Given the description of an element on the screen output the (x, y) to click on. 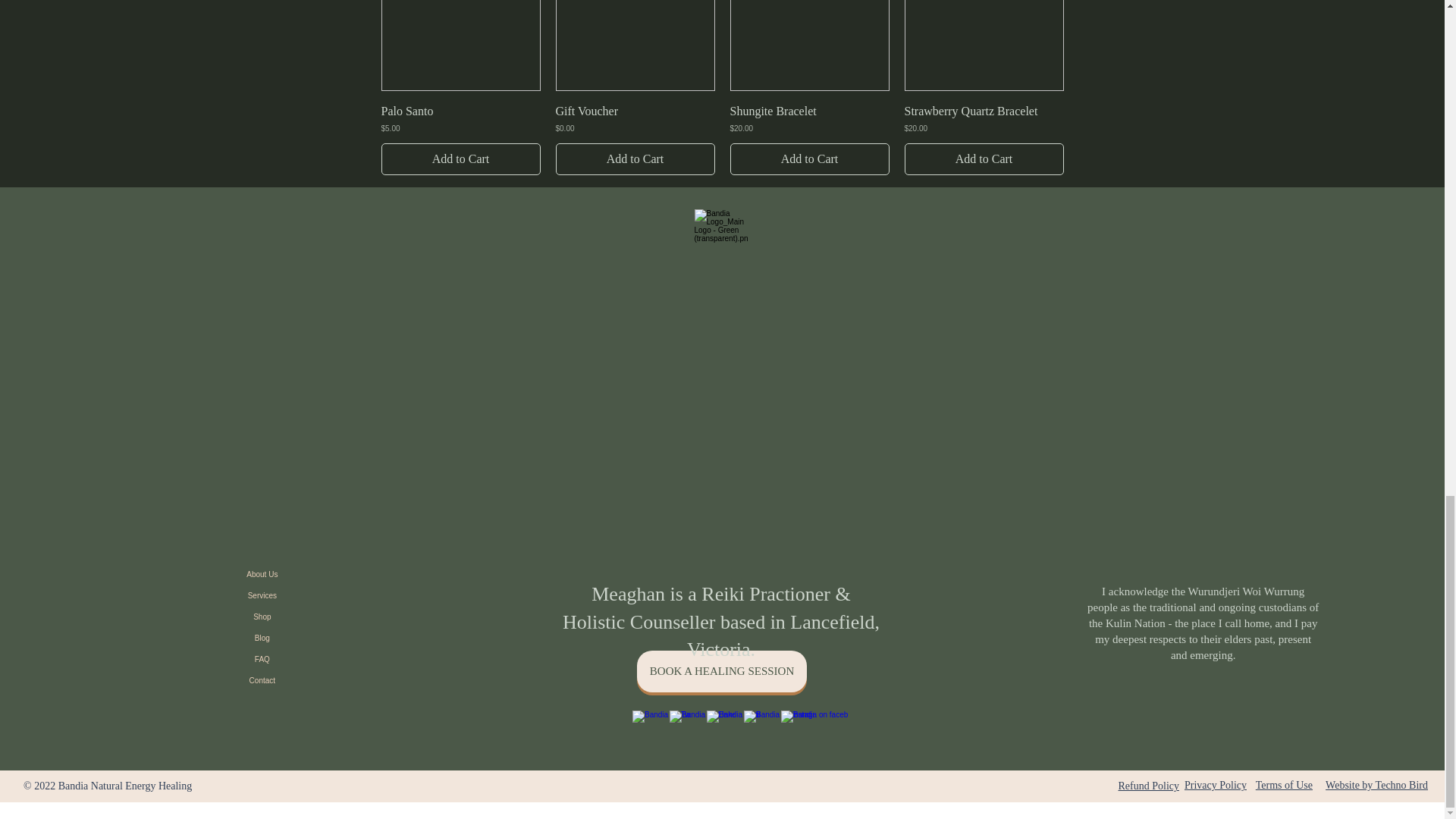
Add to Cart (634, 159)
Add to Cart (460, 159)
Add to Cart (808, 159)
